Given the description of an element on the screen output the (x, y) to click on. 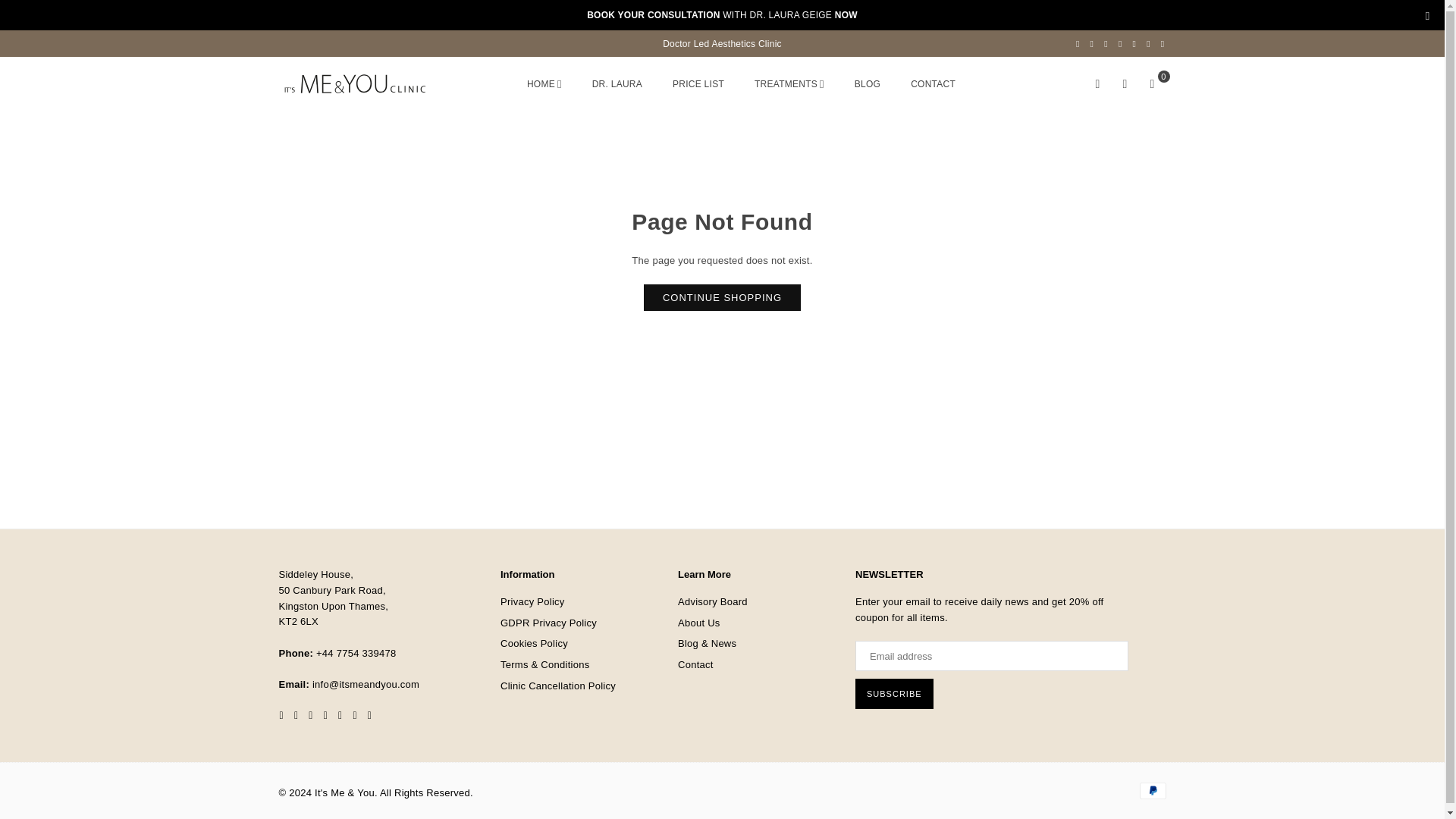
BOOK YOUR CONSULTATION WITH DR. LAURA GEIGE NOW (721, 14)
Cart (1152, 83)
Pinterest (1106, 43)
YouTube (1133, 43)
TREATMENTS (788, 84)
Instagram (1119, 43)
Wishlist (1125, 83)
TikTok (1148, 43)
Search (1098, 83)
PayPal (1152, 791)
